Given the description of an element on the screen output the (x, y) to click on. 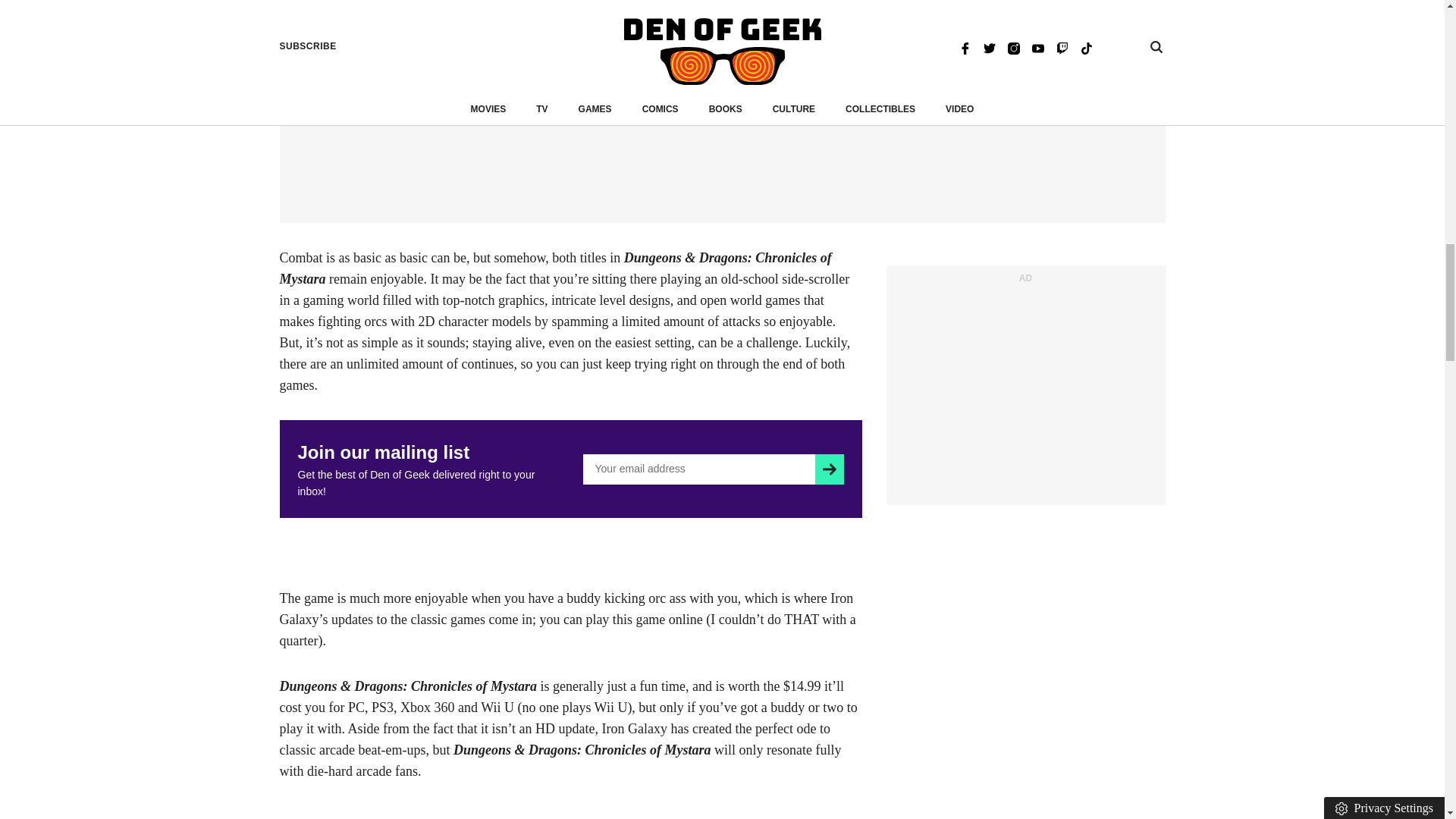
Subscribe (829, 469)
